Given the description of an element on the screen output the (x, y) to click on. 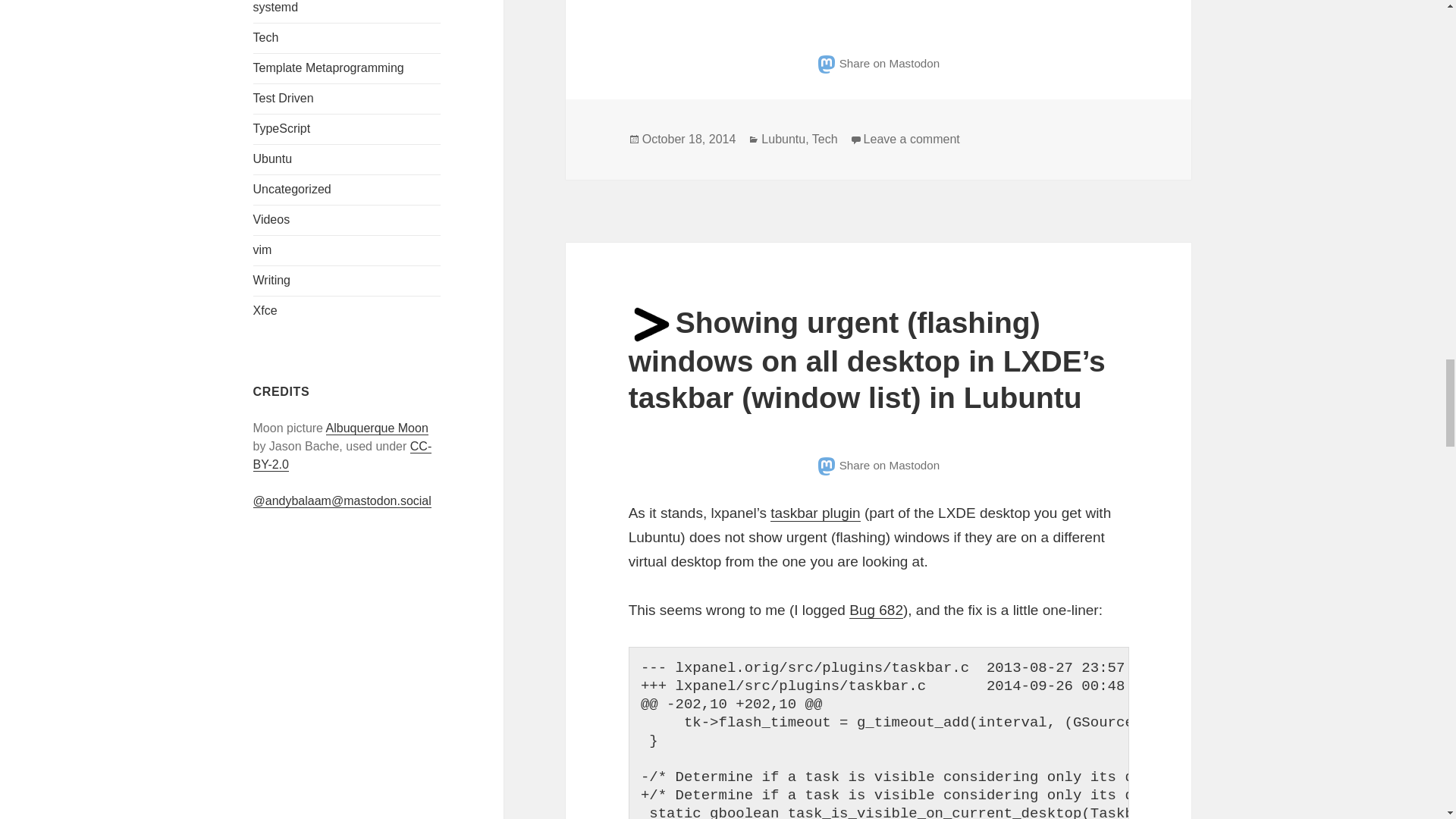
Toot on Mastodon (877, 62)
Toot on Mastodon (877, 464)
